Given the description of an element on the screen output the (x, y) to click on. 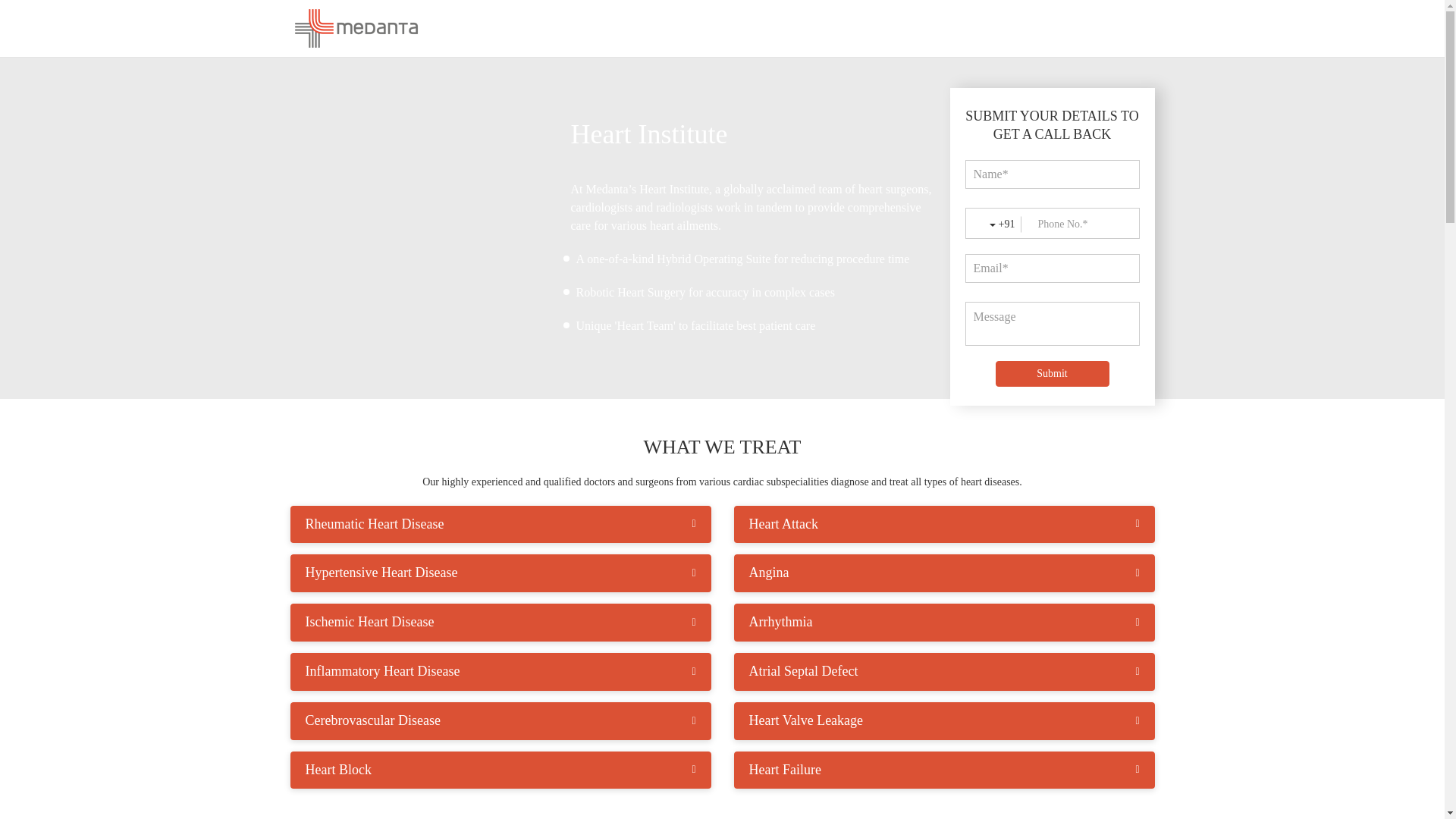
Heart Attack (944, 524)
Cerebrovascular Disease (499, 720)
Submit (1051, 373)
Heart Block (499, 770)
Atrial Septal Defect (944, 671)
Ischemic Heart Disease (499, 622)
Arrhythmia (944, 622)
Heart Failure (944, 770)
Rheumatic Heart Disease (499, 524)
Angina (944, 572)
Inflammatory Heart Disease (499, 671)
Heart Valve Leakage (944, 720)
Hypertensive Heart Disease (499, 572)
